Given the description of an element on the screen output the (x, y) to click on. 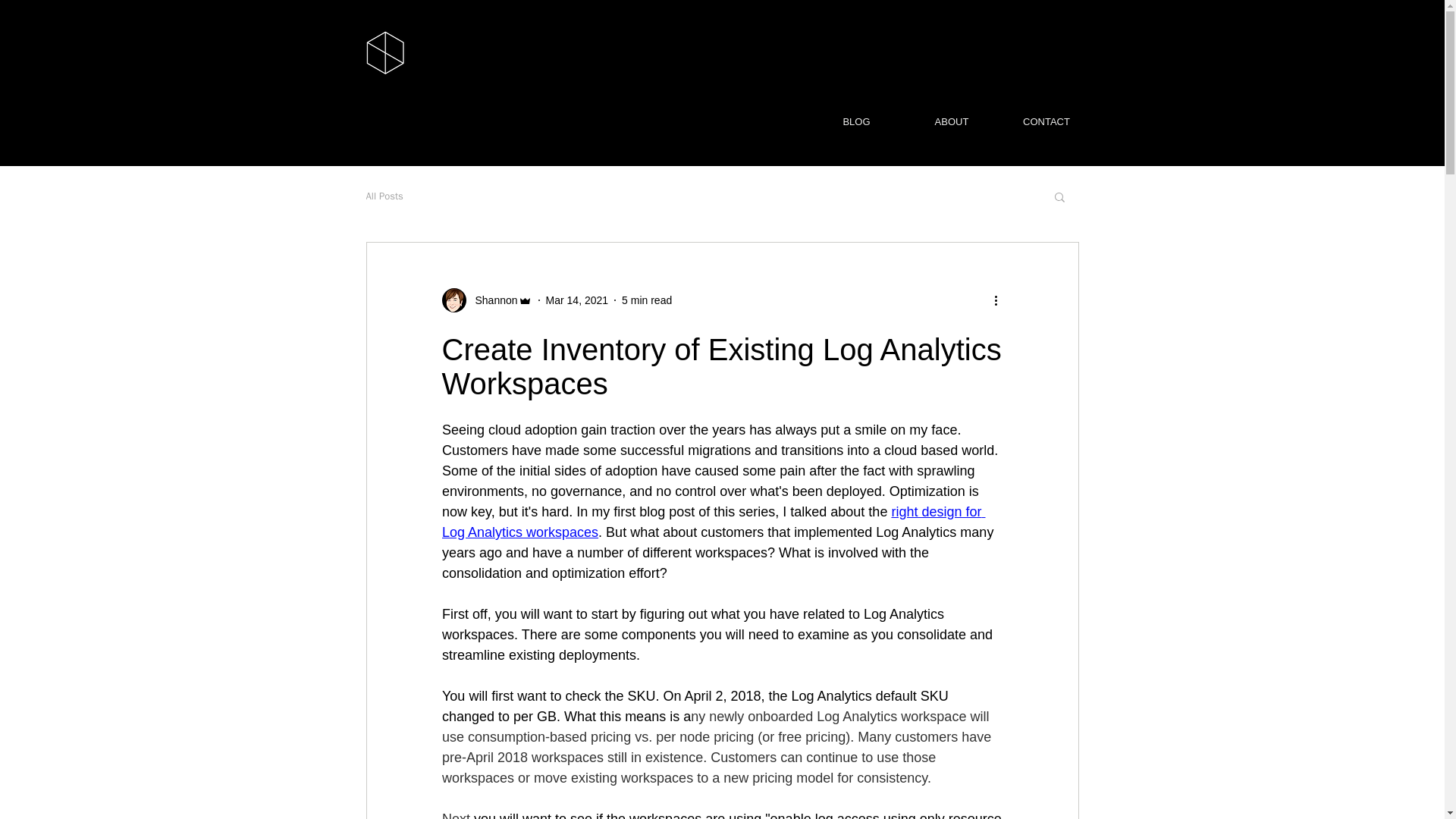
ABOUT (951, 121)
All Posts (384, 196)
BLOG (856, 121)
Shannon (490, 300)
CONTACT (1046, 121)
5 min read (646, 300)
Mar 14, 2021 (577, 300)
right design for Log Analytics workspaces (713, 521)
